Given the description of an element on the screen output the (x, y) to click on. 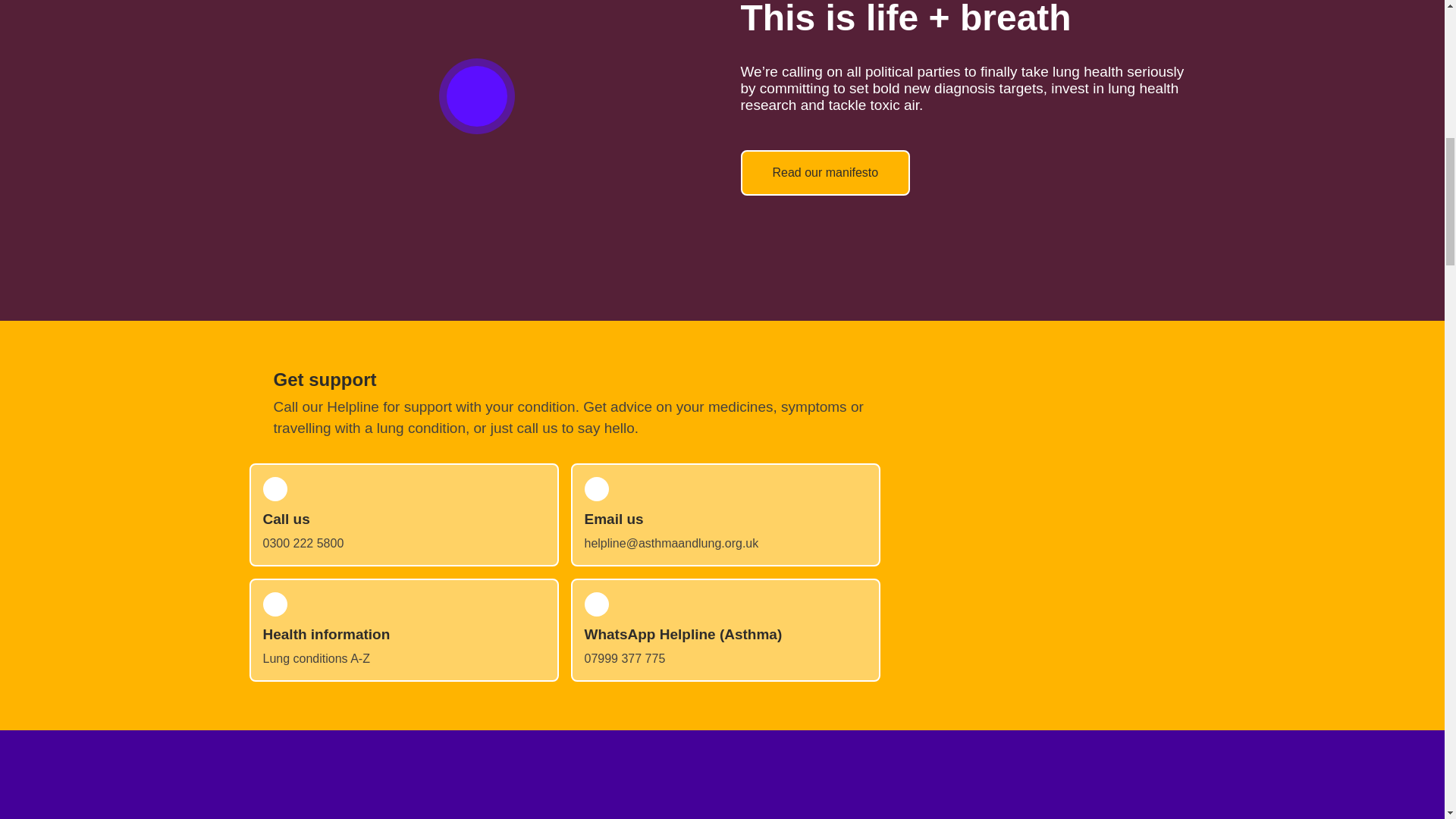
Read our manifesto (824, 172)
